Given the description of an element on the screen output the (x, y) to click on. 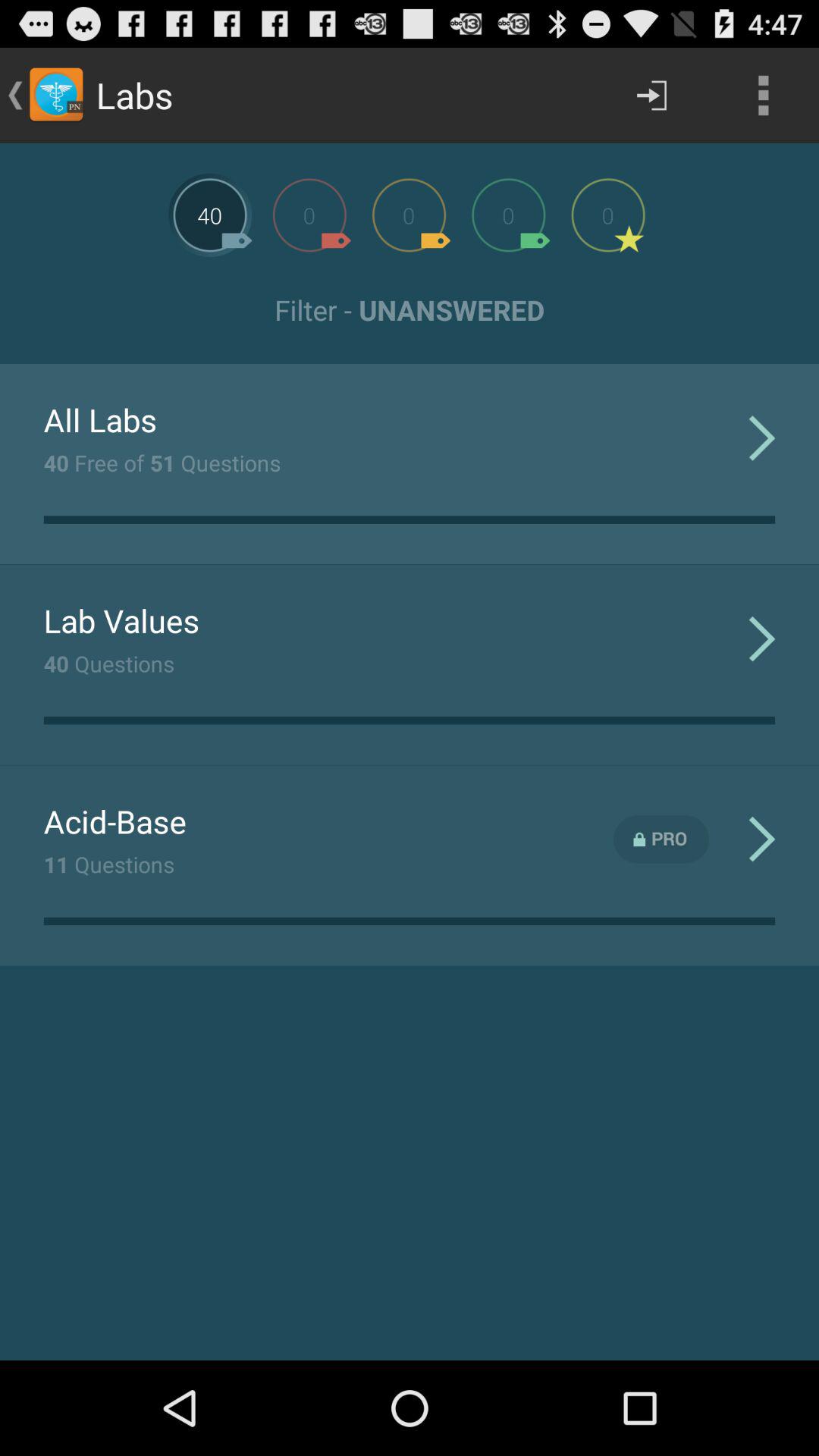
select the more icon which is on top right hand side (763, 95)
